Given the description of an element on the screen output the (x, y) to click on. 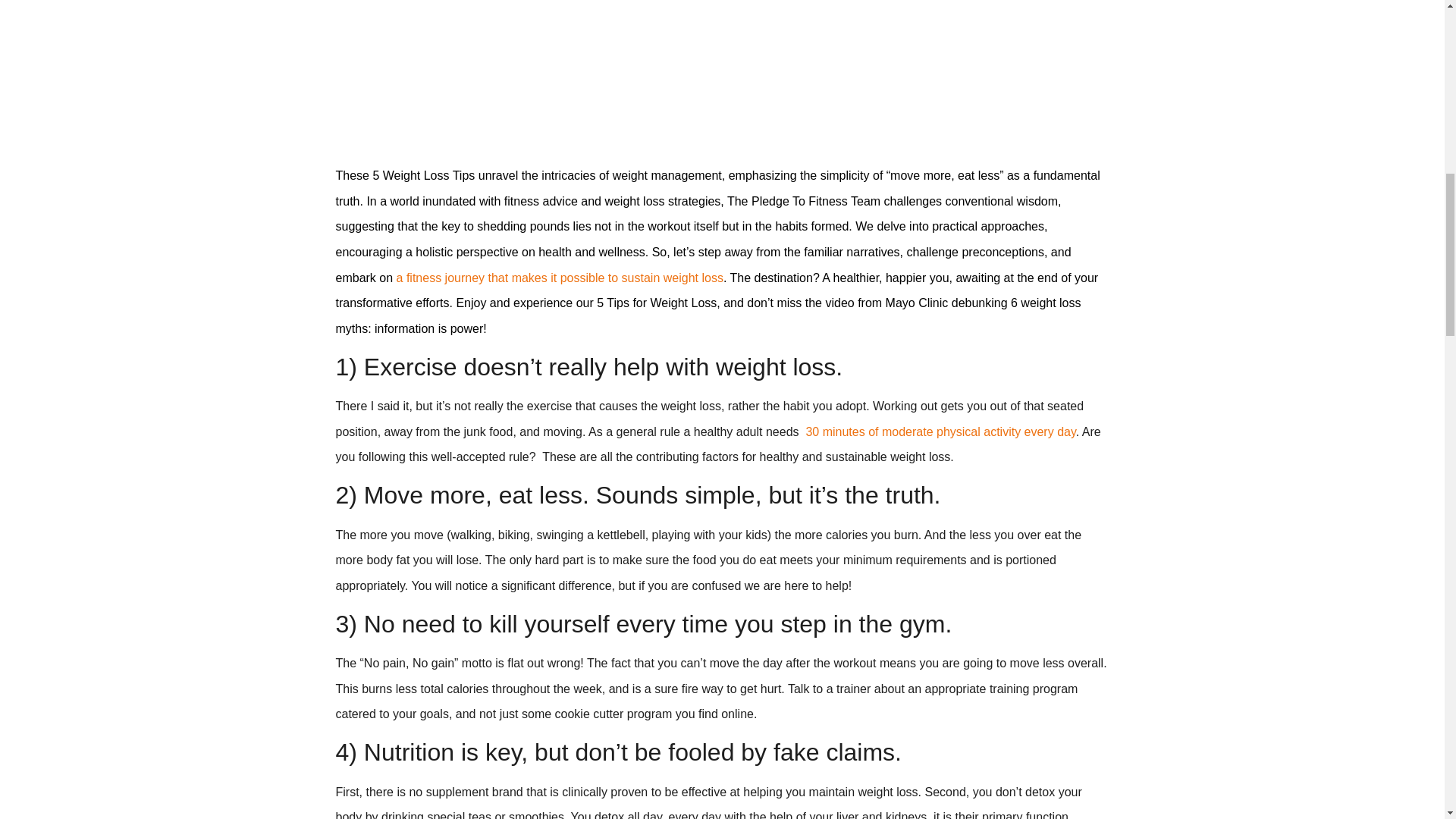
Mayo Clinic debunks 6 weight loss myths (721, 71)
